Given the description of an element on the screen output the (x, y) to click on. 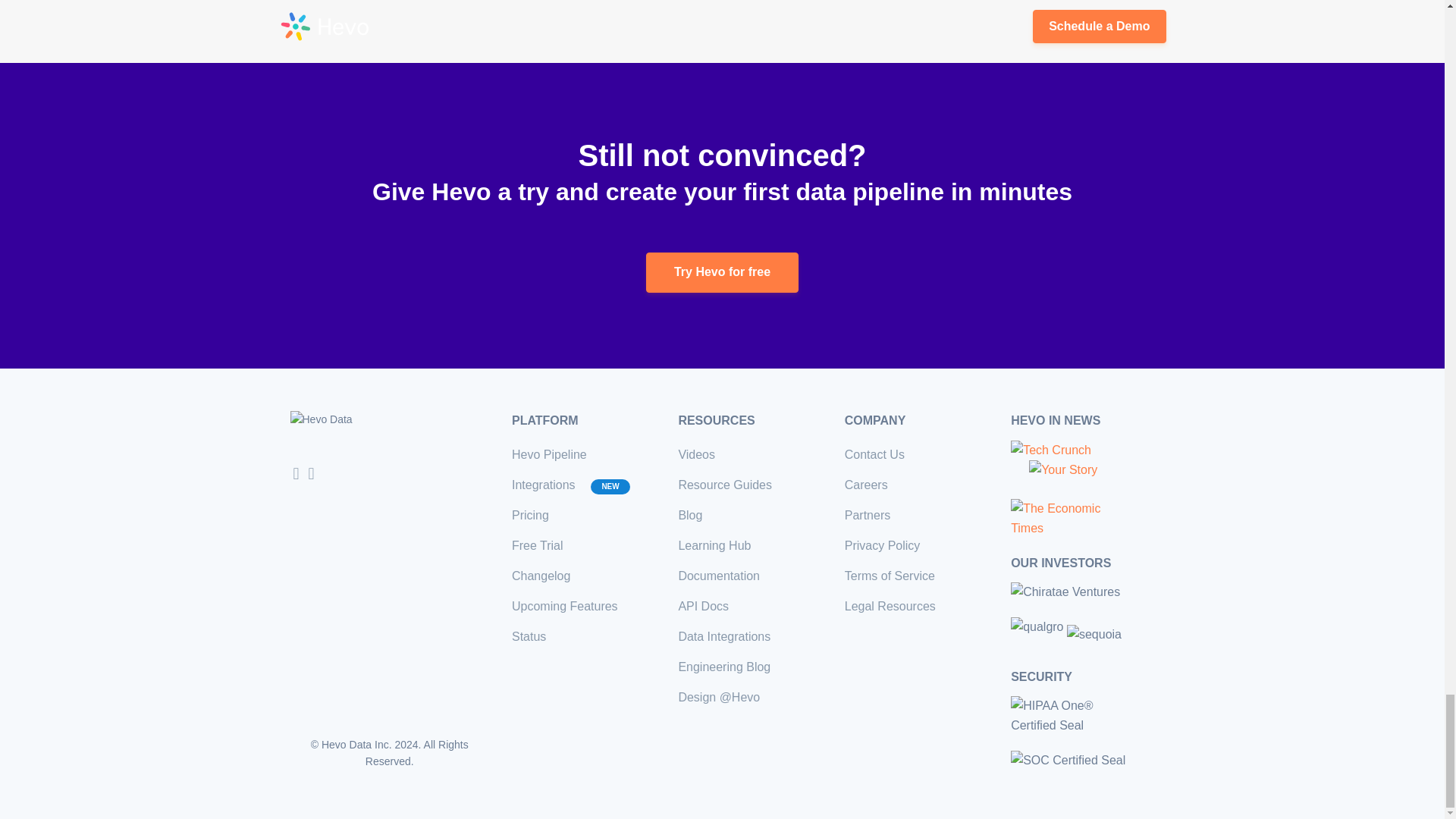
Hevo Pipeline (549, 454)
Terms of Service (889, 575)
Status (529, 635)
Learning Hub (714, 545)
API Docs (703, 605)
Partners (866, 514)
Legal Resources (890, 605)
Changelog (541, 575)
Privacy Policy (882, 545)
Engineering Blog (724, 666)
